Given the description of an element on the screen output the (x, y) to click on. 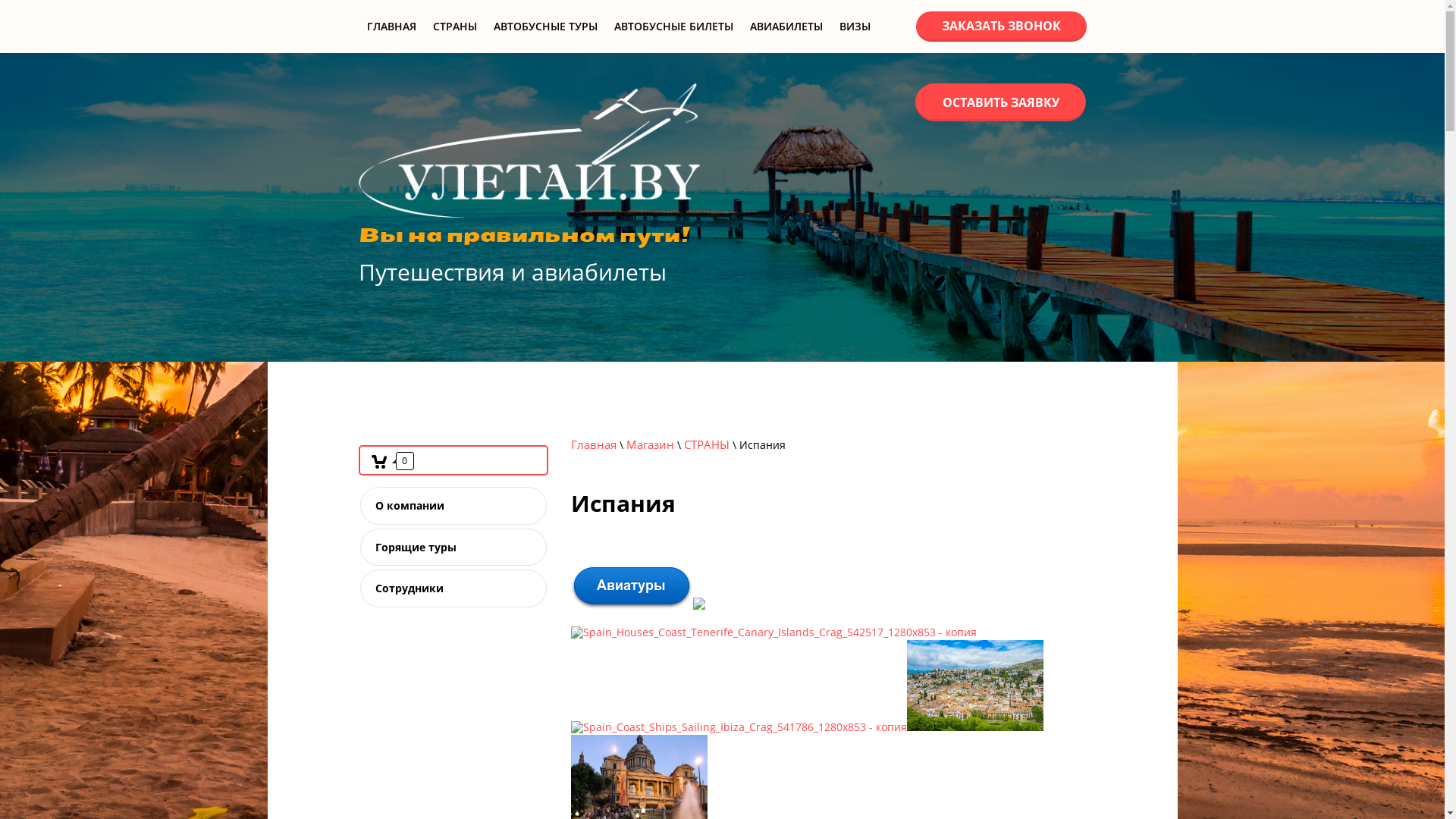
0 Element type: text (389, 461)
